Given the description of an element on the screen output the (x, y) to click on. 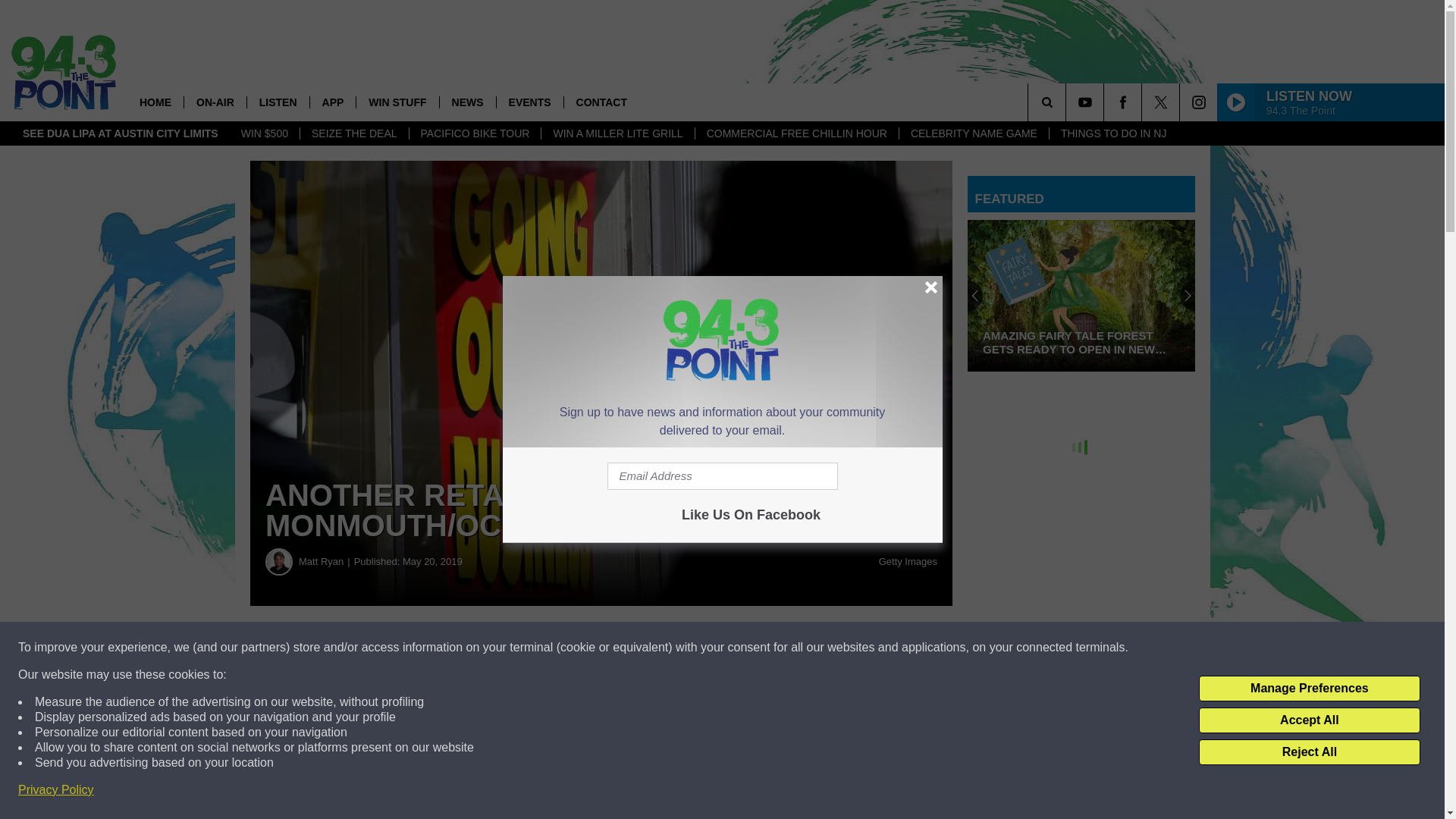
PACIFICO BIKE TOUR (475, 133)
ON-AIR (214, 102)
Email Address (722, 475)
APP (332, 102)
COMMERCIAL FREE CHILLIN HOUR (796, 133)
Privacy Policy (55, 789)
SEIZE THE DEAL (354, 133)
SEARCH (1068, 102)
LISTEN (277, 102)
CELEBRITY NAME GAME (973, 133)
SEE DUA LIPA AT AUSTIN CITY LIMITS (120, 133)
THINGS TO DO IN NJ (1112, 133)
Reject All (1309, 751)
WIN A MILLER LITE GRILL (617, 133)
WIN STUFF (396, 102)
